Given the description of an element on the screen output the (x, y) to click on. 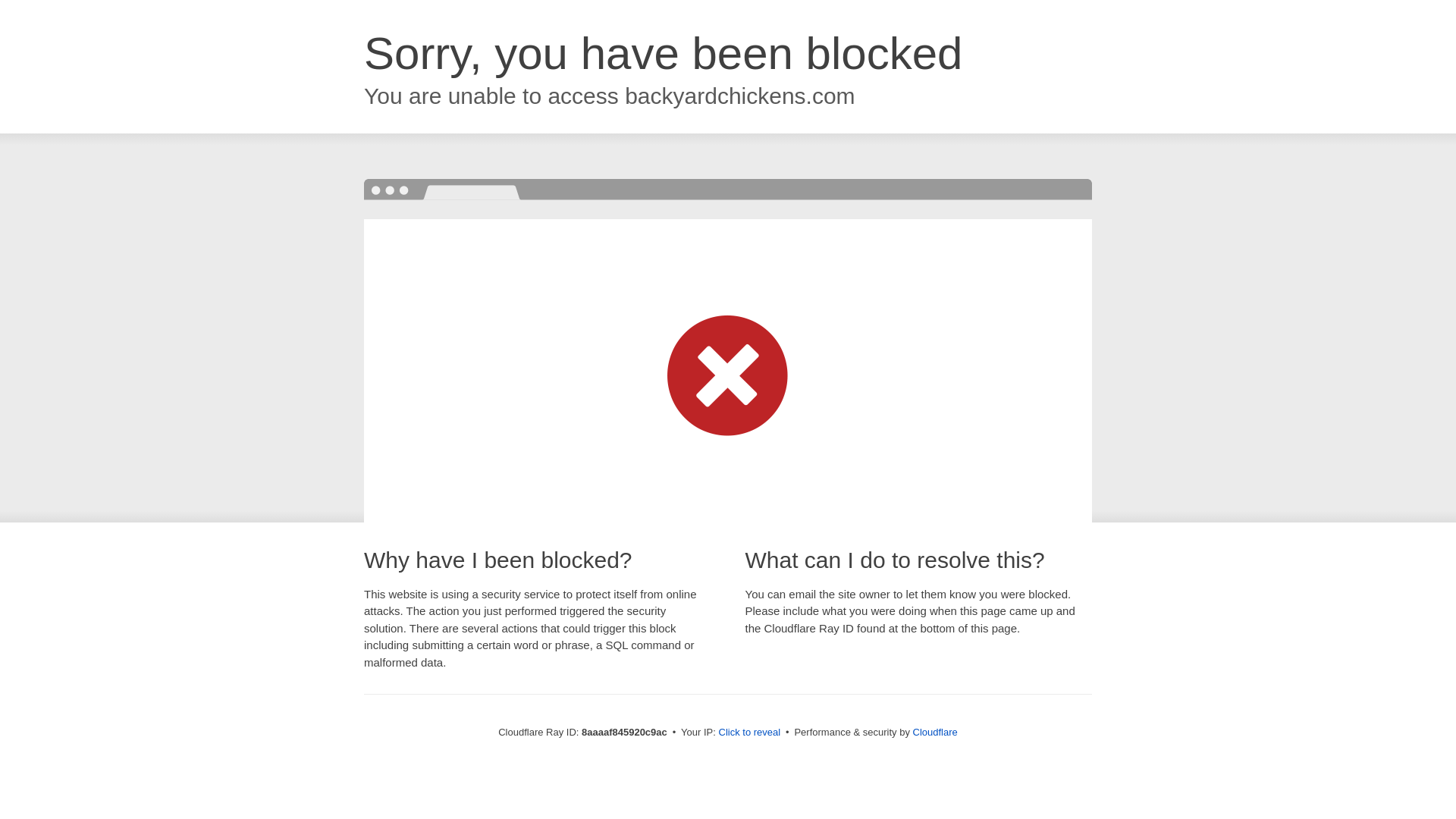
Cloudflare (935, 731)
Click to reveal (749, 732)
